Given the description of an element on the screen output the (x, y) to click on. 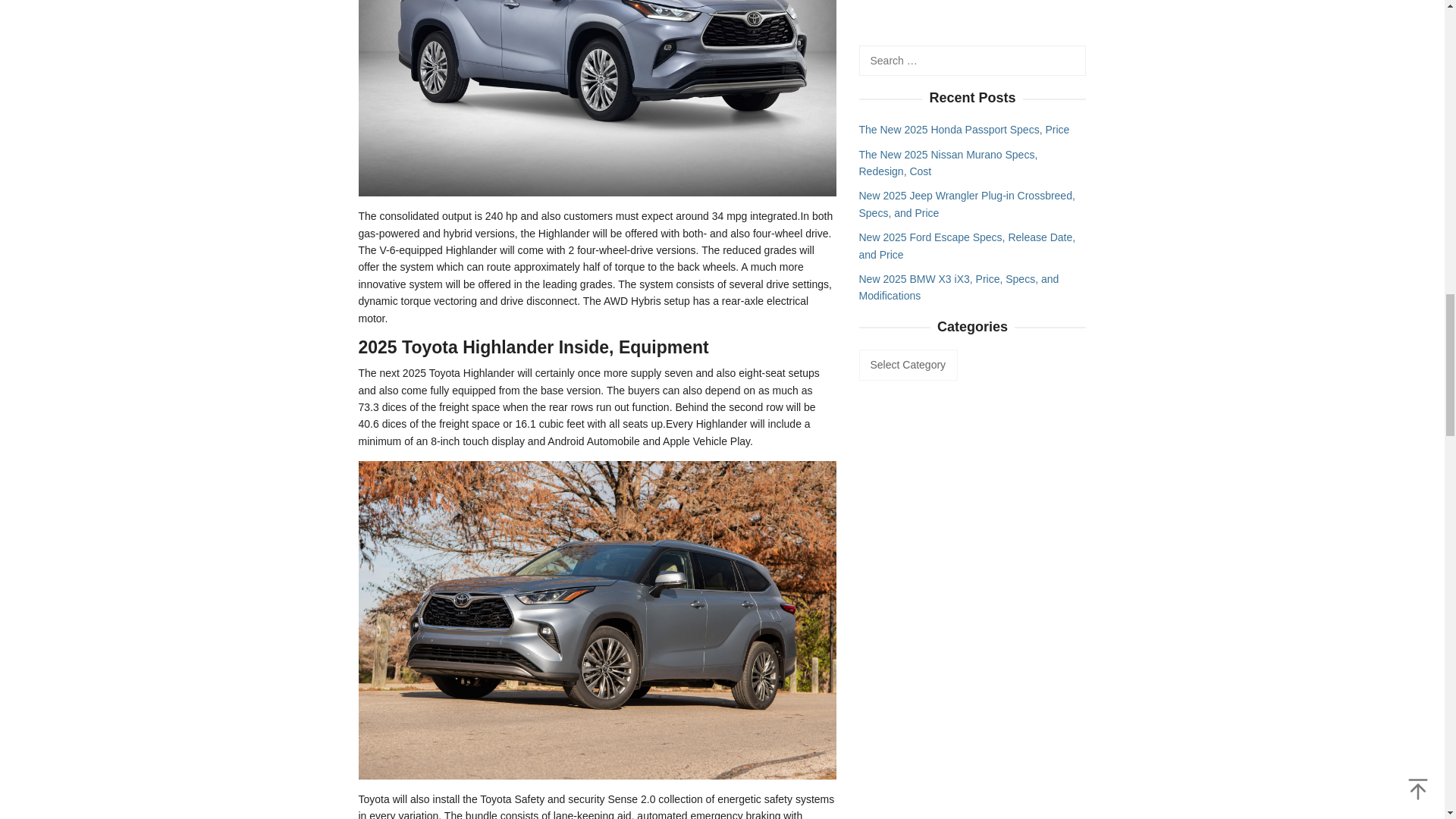
Toyota Highlander Interior (596, 98)
Toyota Highlander Interior (596, 16)
Toyota Highlander Redesign (596, 619)
